Given the description of an element on the screen output the (x, y) to click on. 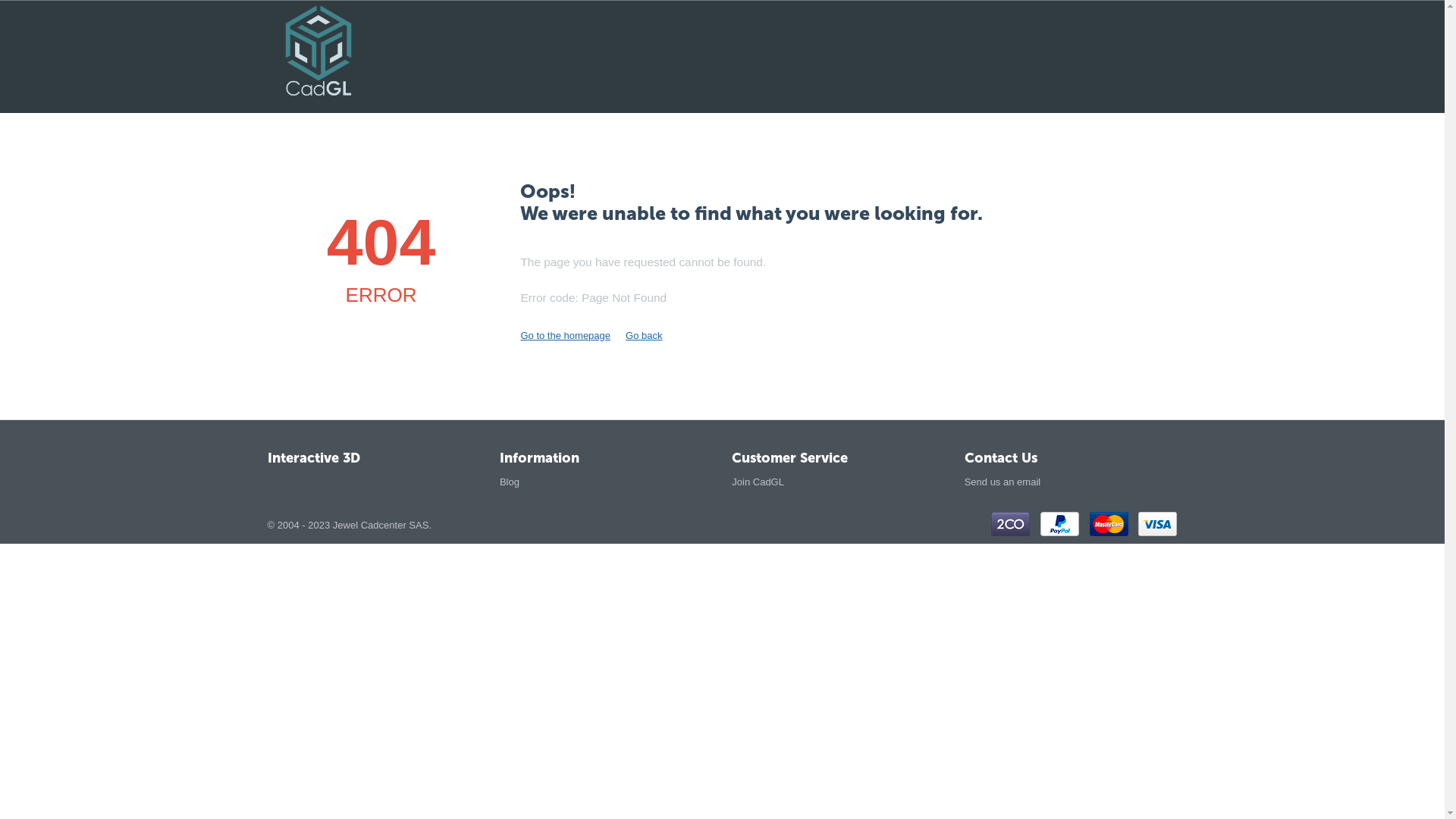
Join CadGL Element type: text (757, 481)
Go to the homepage Element type: text (565, 335)
Go back Element type: text (643, 335)
Send us an email Element type: text (1002, 481)
Blog Element type: text (509, 481)
